Given the description of an element on the screen output the (x, y) to click on. 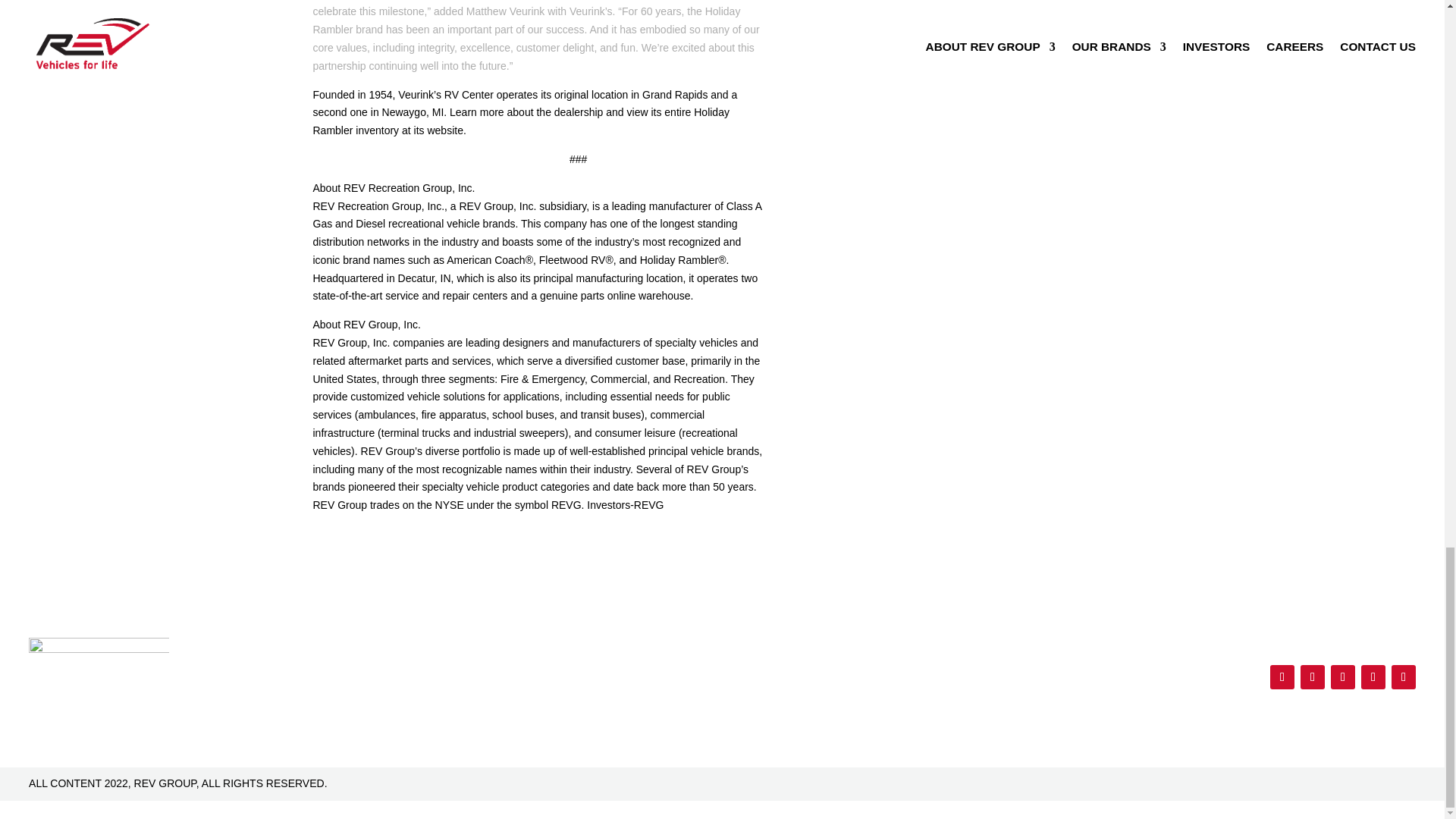
Follow on Facebook (1281, 677)
REV 2-Color logo Red and White with Tag (98, 669)
Follow on Youtube (1373, 677)
Follow on Instagram (1342, 677)
Follow on X (1312, 677)
Follow on LinkedIn (1403, 677)
